Given the description of an element on the screen output the (x, y) to click on. 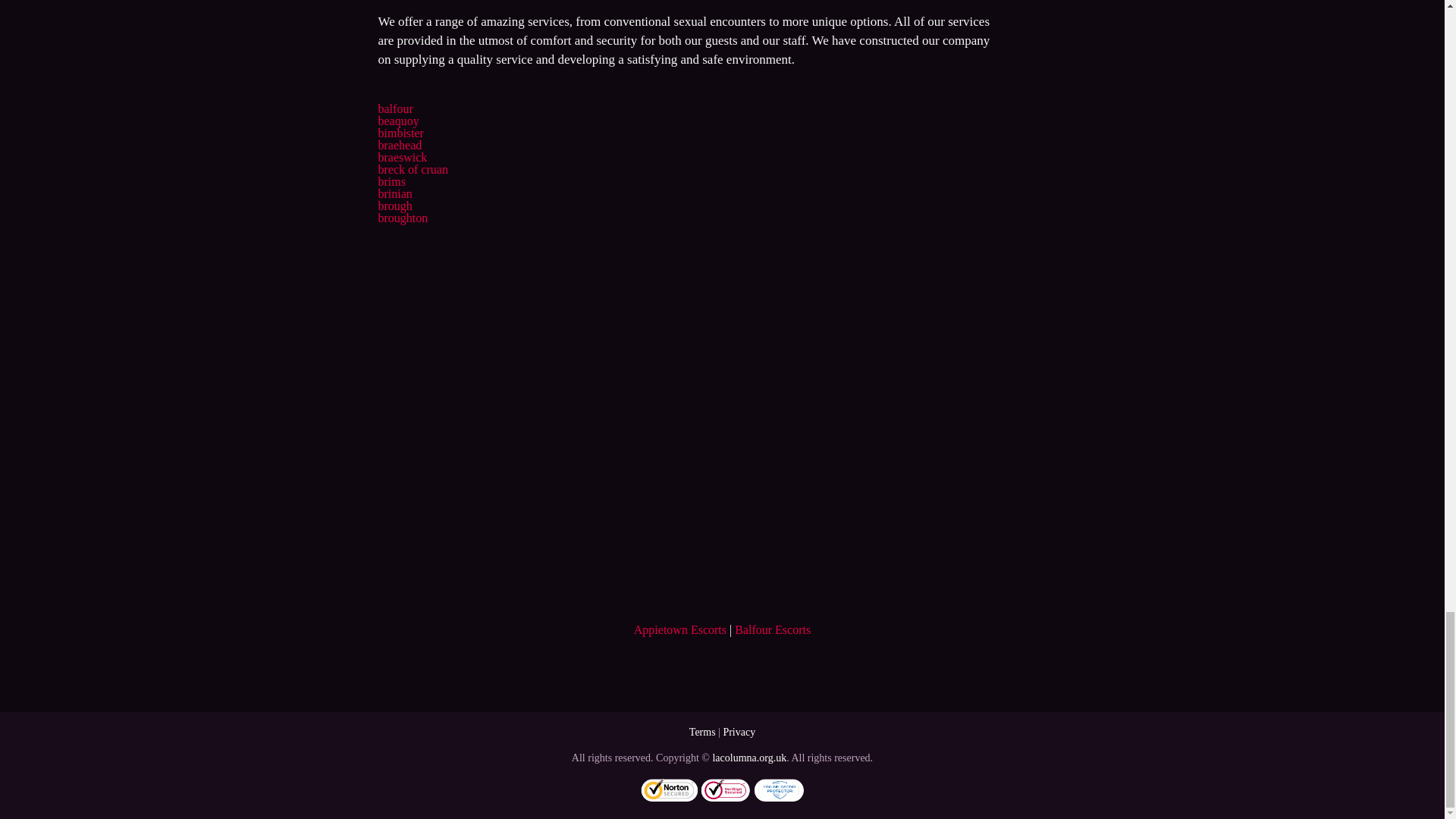
bimbister (400, 132)
brims (390, 181)
Terms (702, 731)
brinian (394, 193)
braeswick (401, 156)
Privacy (738, 731)
lacolumna.org.uk (748, 757)
beaquoy (398, 120)
broughton (402, 217)
Privacy (738, 731)
